Given the description of an element on the screen output the (x, y) to click on. 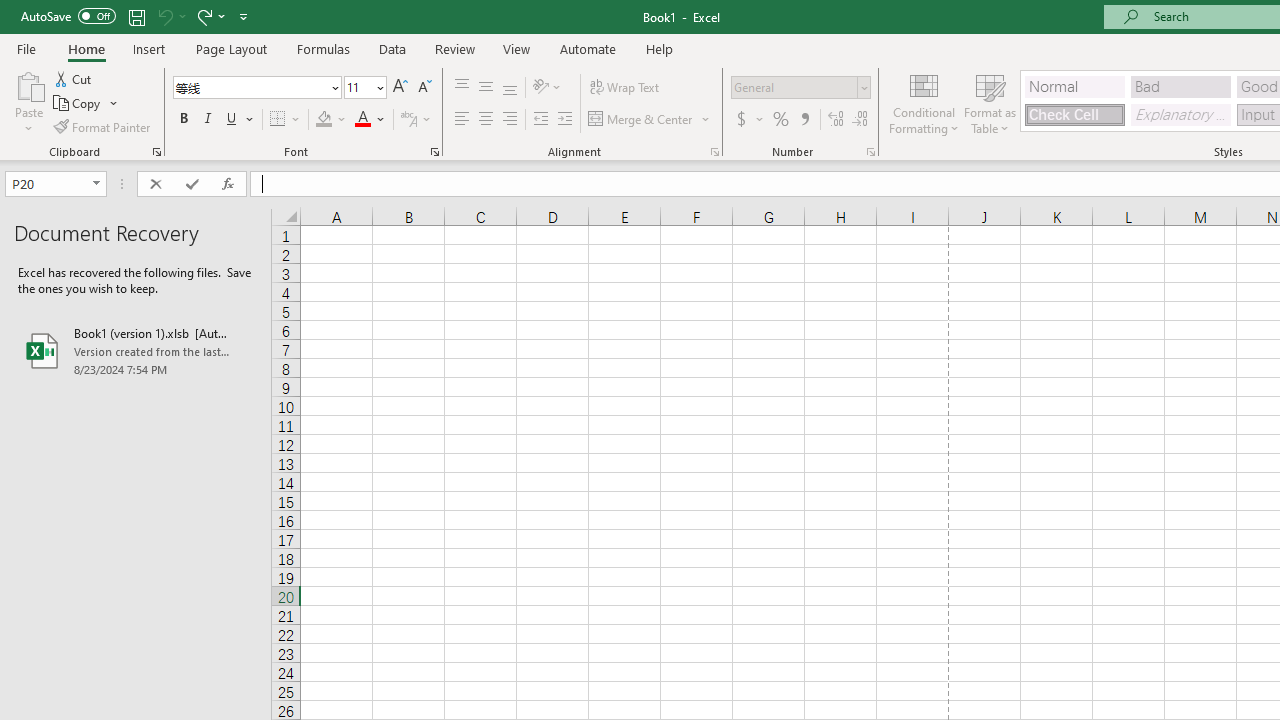
Format as Table (990, 102)
Decrease Font Size (424, 87)
Format Cell Number (870, 151)
Accounting Number Format (749, 119)
Italic (207, 119)
Accounting Number Format (741, 119)
Merge & Center (641, 119)
